Given the description of an element on the screen output the (x, y) to click on. 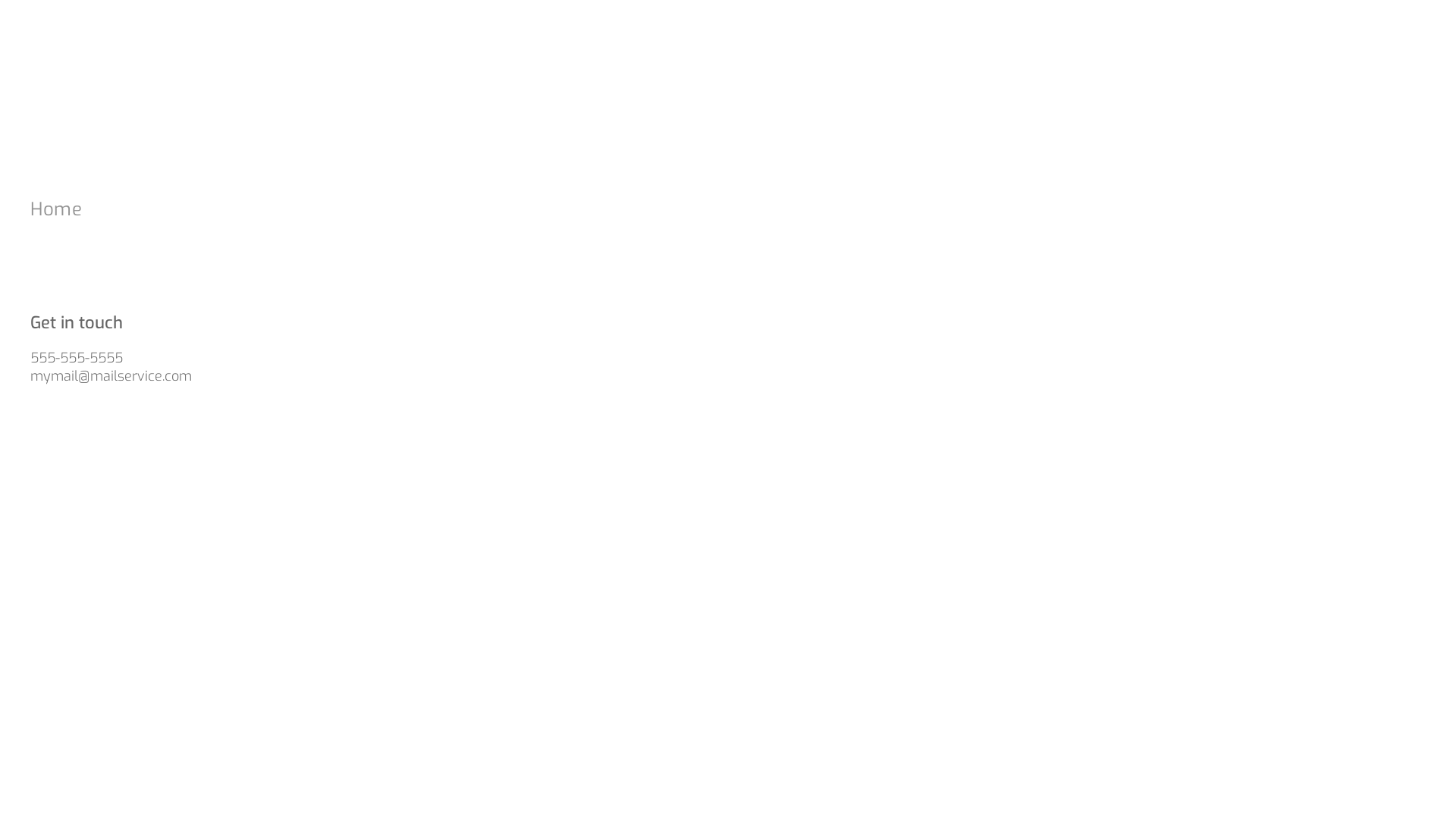
Home Element type: text (386, 209)
